Given the description of an element on the screen output the (x, y) to click on. 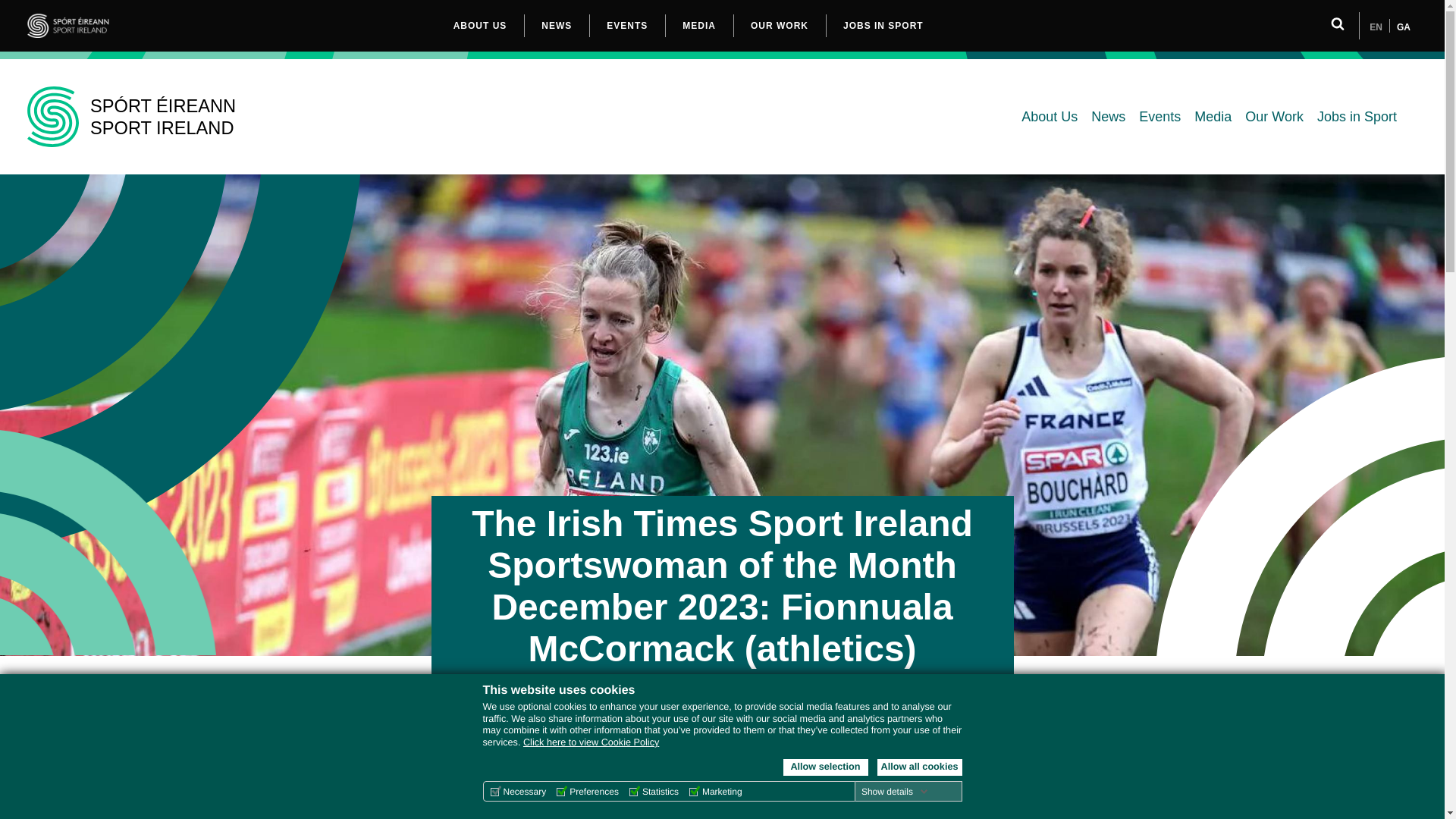
Allow selection (825, 767)
Show details (895, 791)
Click here to view Cookie Policy (590, 742)
Allow all cookies (918, 767)
